Given the description of an element on the screen output the (x, y) to click on. 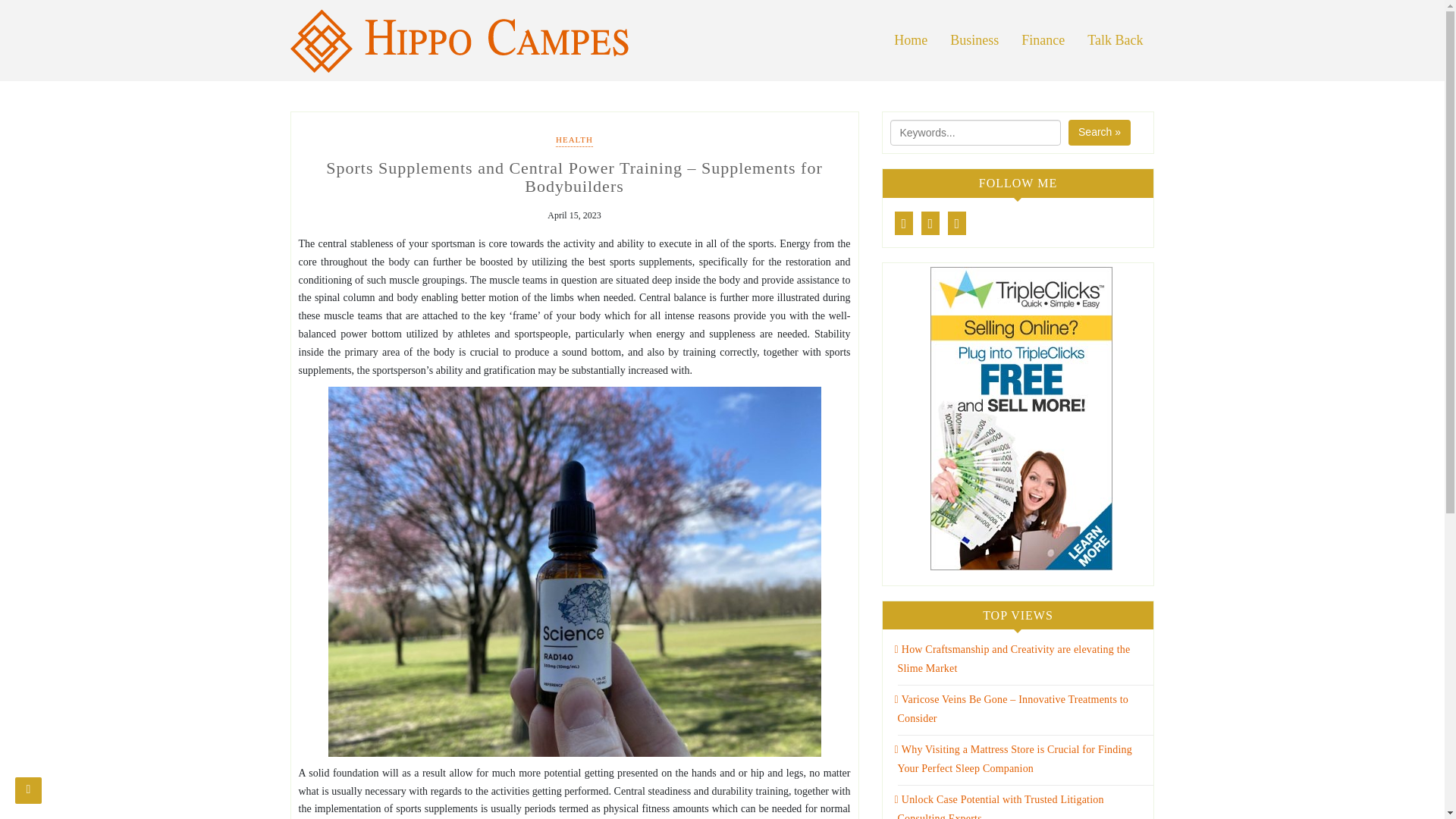
Talk Back (1114, 40)
HEALTH (574, 141)
